Given the description of an element on the screen output the (x, y) to click on. 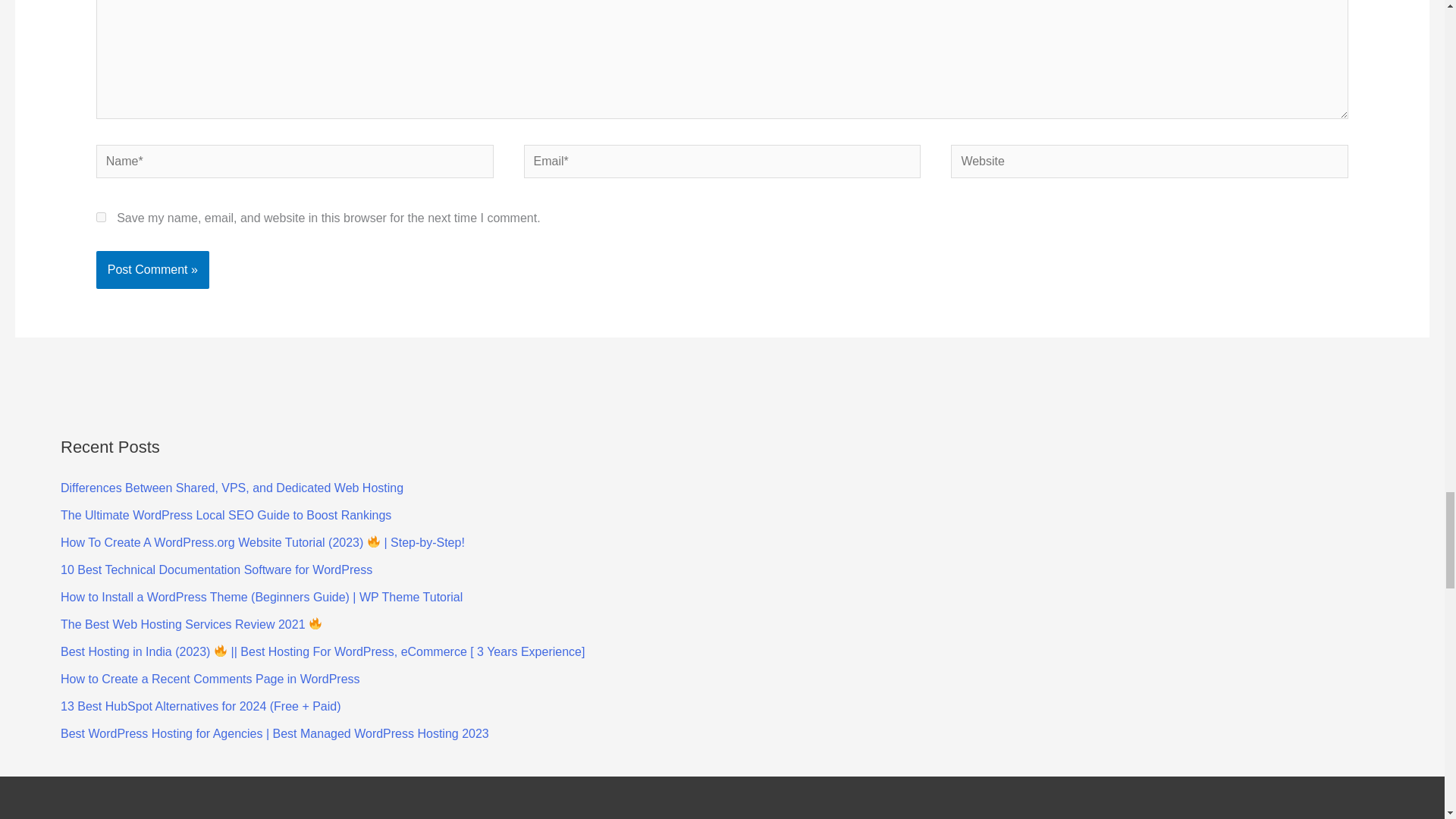
How to Create a Recent Comments Page in WordPress (210, 678)
The Best Web Hosting Services Review 2021 (191, 624)
Differences Between Shared, VPS, and Dedicated Web Hosting (232, 487)
The Ultimate WordPress Local SEO Guide to Boost Rankings (226, 514)
yes (101, 216)
10 Best Technical Documentation Software for WordPress (216, 569)
